Given the description of an element on the screen output the (x, y) to click on. 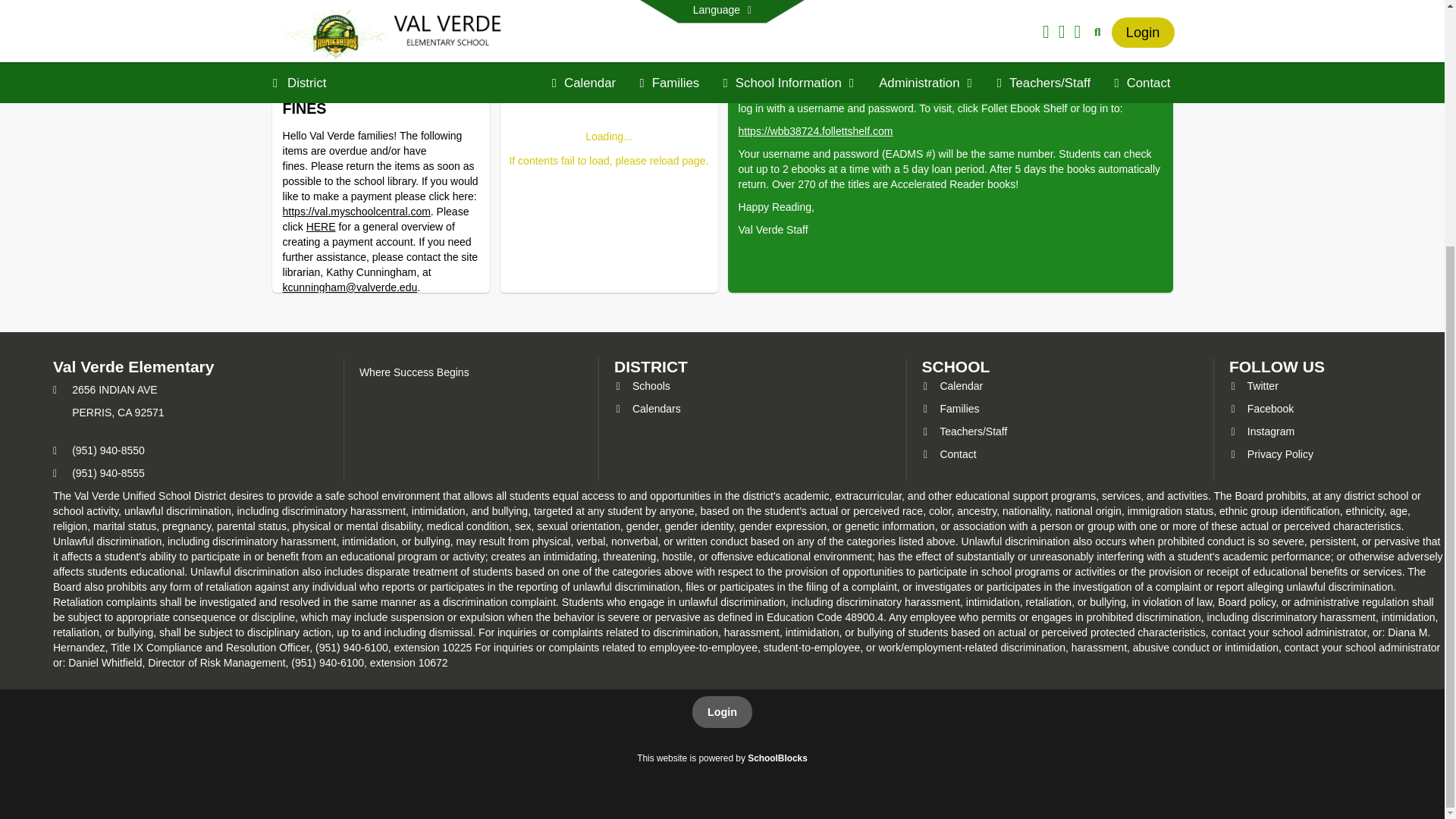
Families (950, 408)
HERE (320, 226)
ASB Works Store (348, 22)
Twitter (1253, 386)
DISTRICT (650, 366)
Instagram (1261, 431)
SCHOOL (955, 366)
Twitter (1253, 386)
Contact (948, 453)
Privacy Policy (1270, 453)
